Given the description of an element on the screen output the (x, y) to click on. 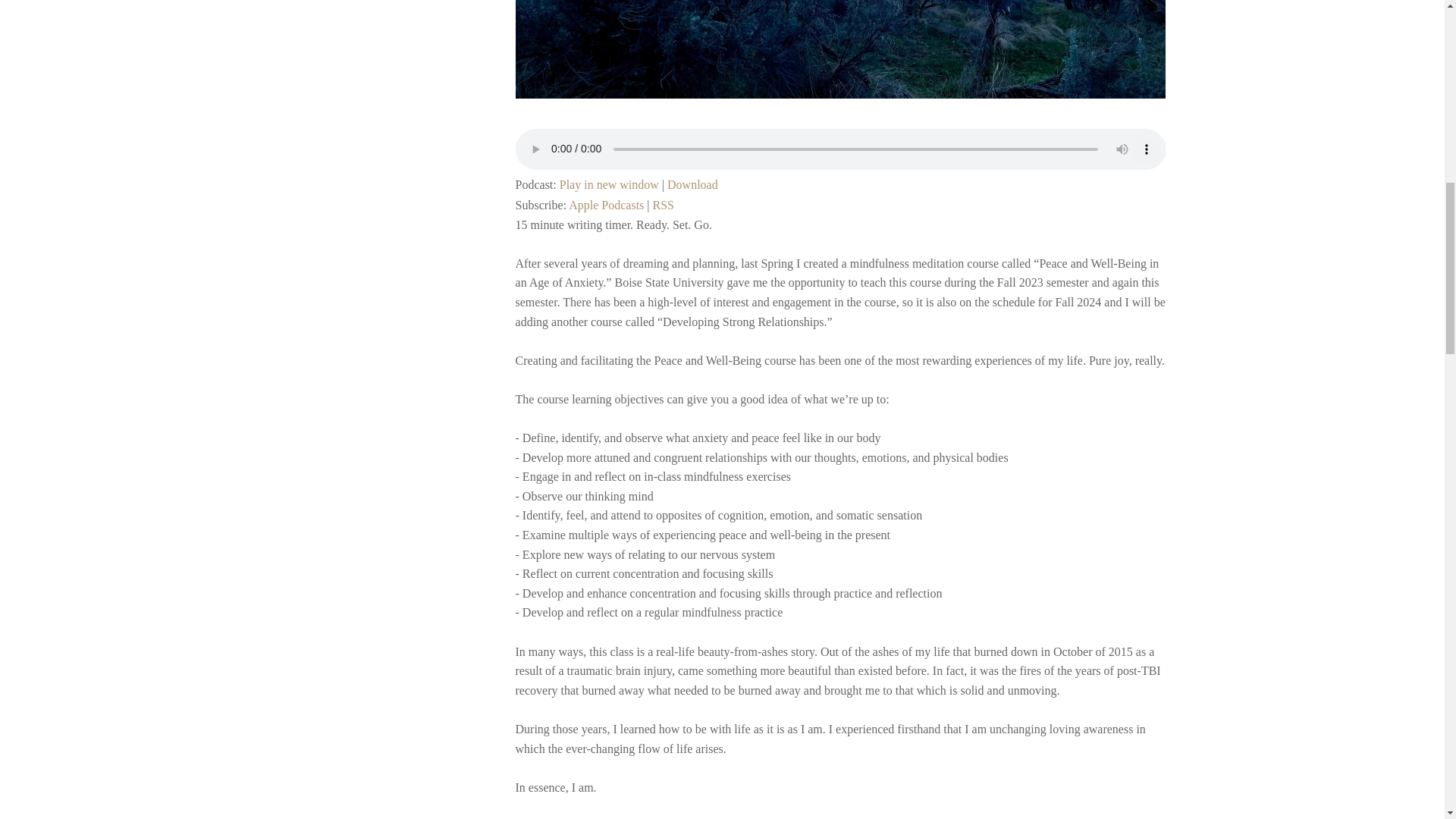
Download (691, 184)
Download (691, 184)
Play in new window (609, 184)
Apple Podcasts (606, 205)
RSS (663, 205)
Subscribe via RSS (663, 205)
Play in new window (609, 184)
Subscribe on Apple Podcasts (606, 205)
